Given the description of an element on the screen output the (x, y) to click on. 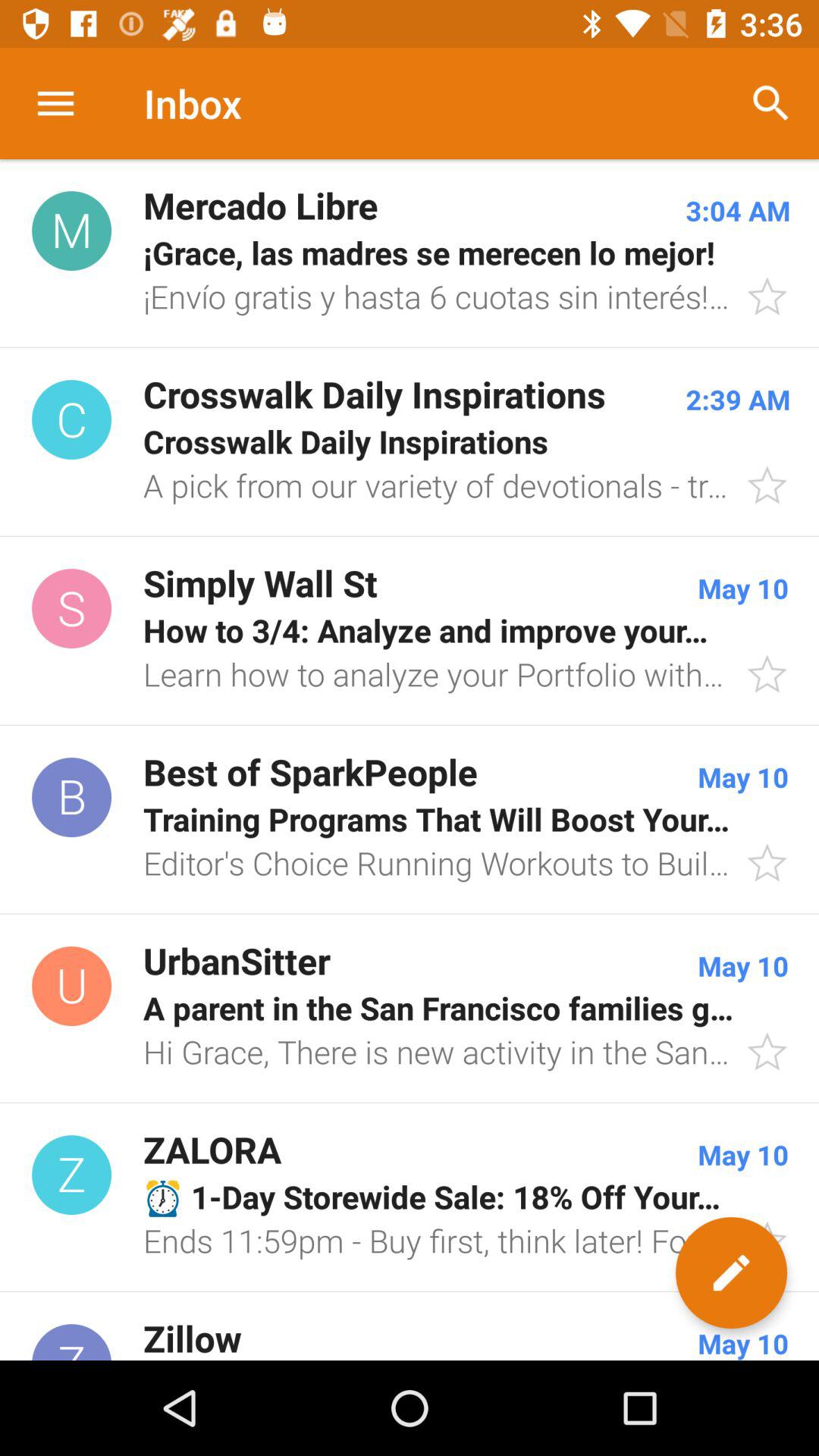
press the item at the bottom right corner (731, 1272)
